Given the description of an element on the screen output the (x, y) to click on. 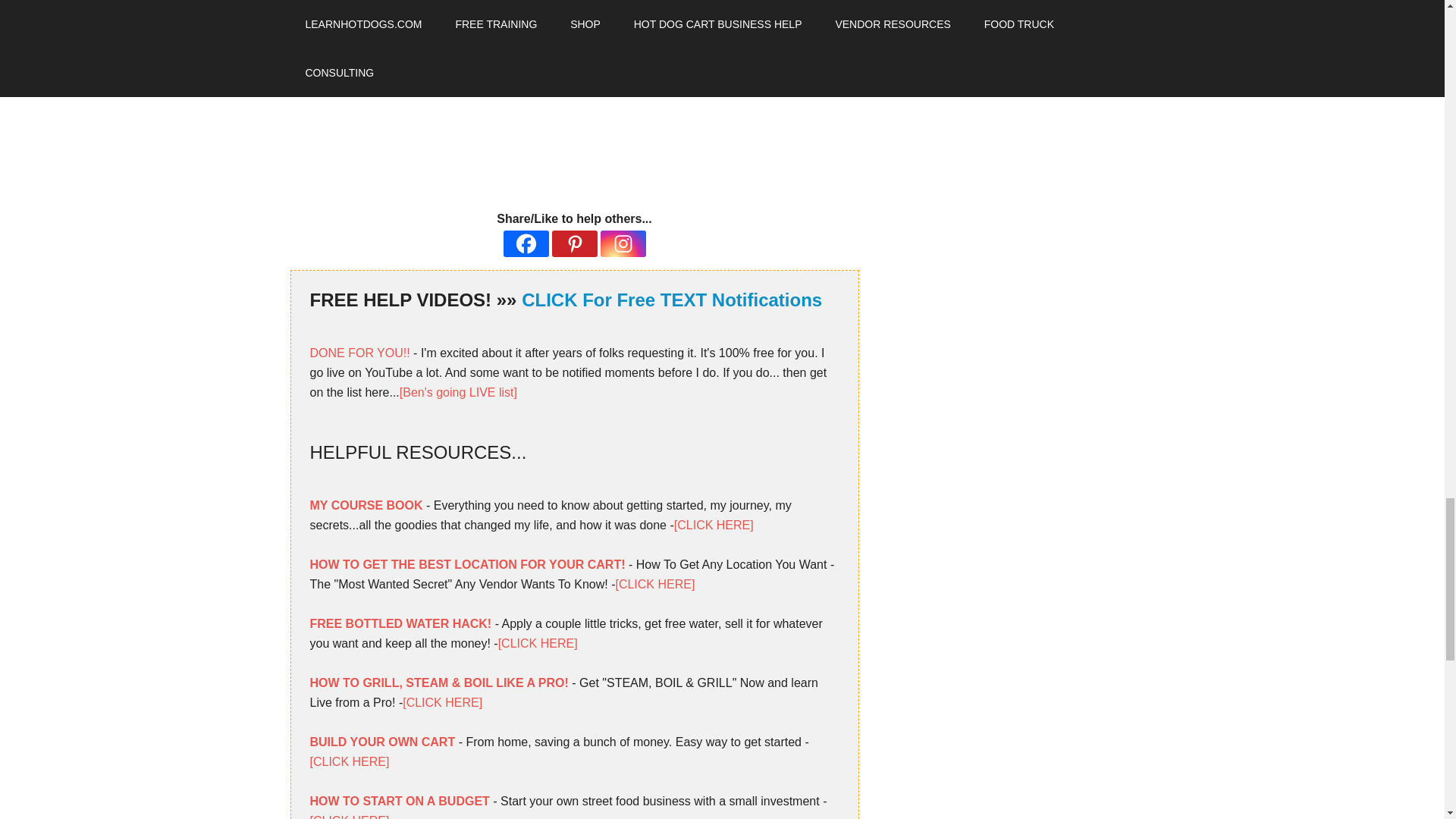
Pinterest (573, 243)
DONE FOR YOU!! (358, 352)
CLICK For Free TEXT Notifications (671, 299)
Facebook (525, 243)
HOW TO GET THE BEST LOCATION FOR YOUR CART! (466, 563)
MY COURSE BOOK (365, 504)
Instagram (622, 243)
FREE BOTTLED WATER HACK! (400, 623)
